Given the description of an element on the screen output the (x, y) to click on. 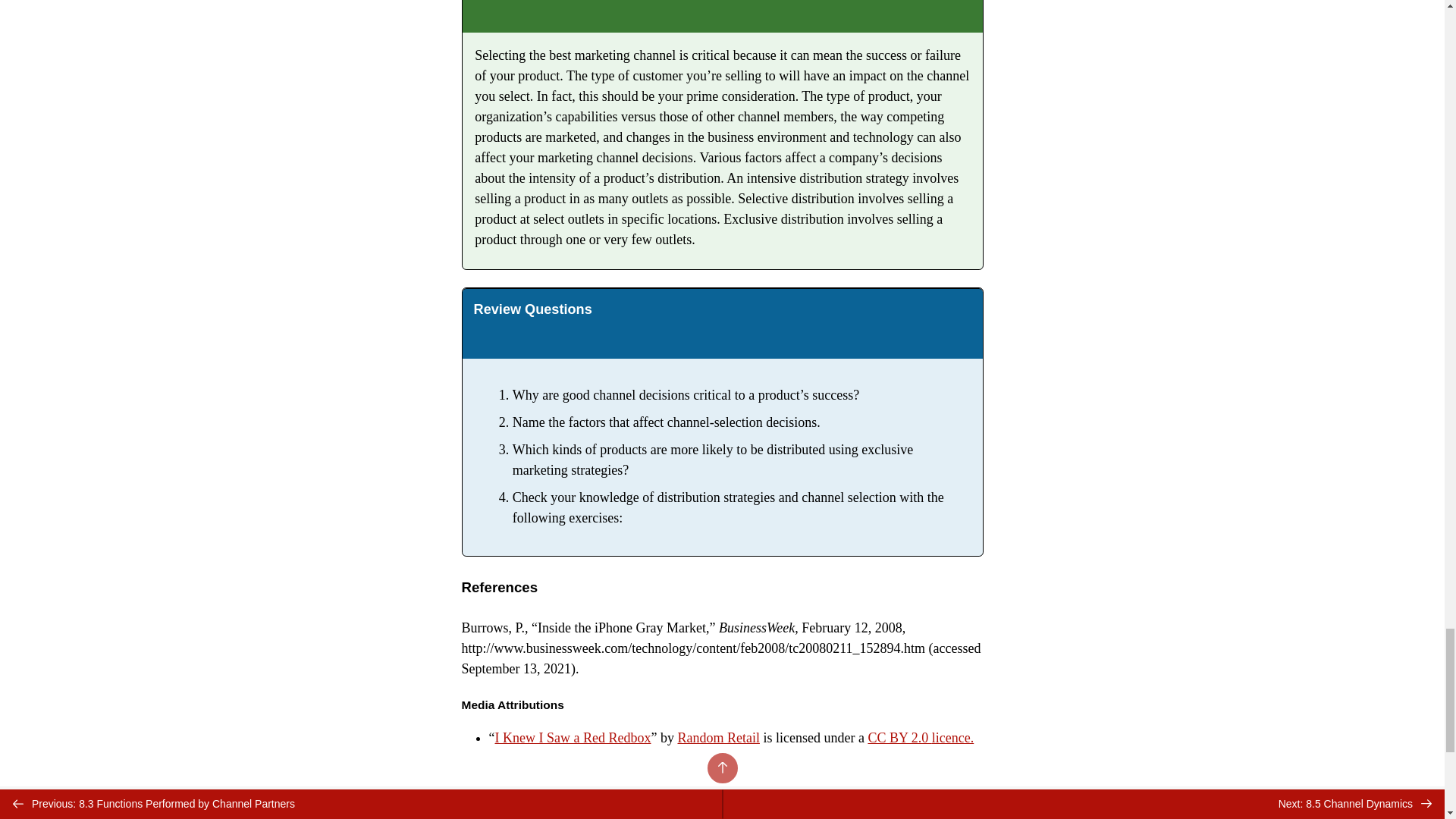
CC BY 2.0 licence. (920, 737)
I Knew I Saw a Red Redbox (572, 737)
Random Retail (717, 737)
